Given the description of an element on the screen output the (x, y) to click on. 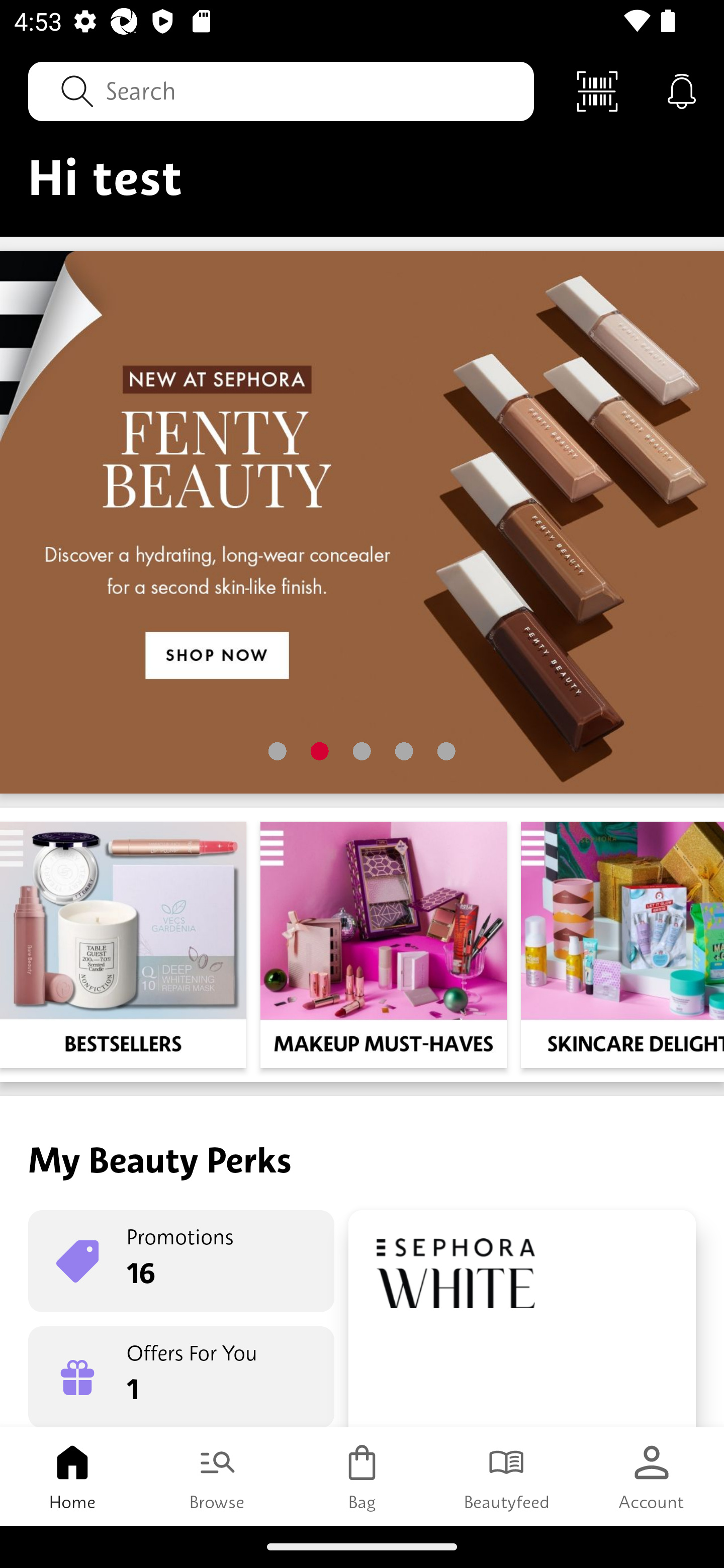
Scan Code (597, 90)
Notifications (681, 90)
Search (281, 90)
Promotions 16 (181, 1261)
Rewards Boutique 90 Pts (521, 1318)
Offers For You 1 (181, 1376)
Browse (216, 1475)
Bag (361, 1475)
Beautyfeed (506, 1475)
Account (651, 1475)
